Given the description of an element on the screen output the (x, y) to click on. 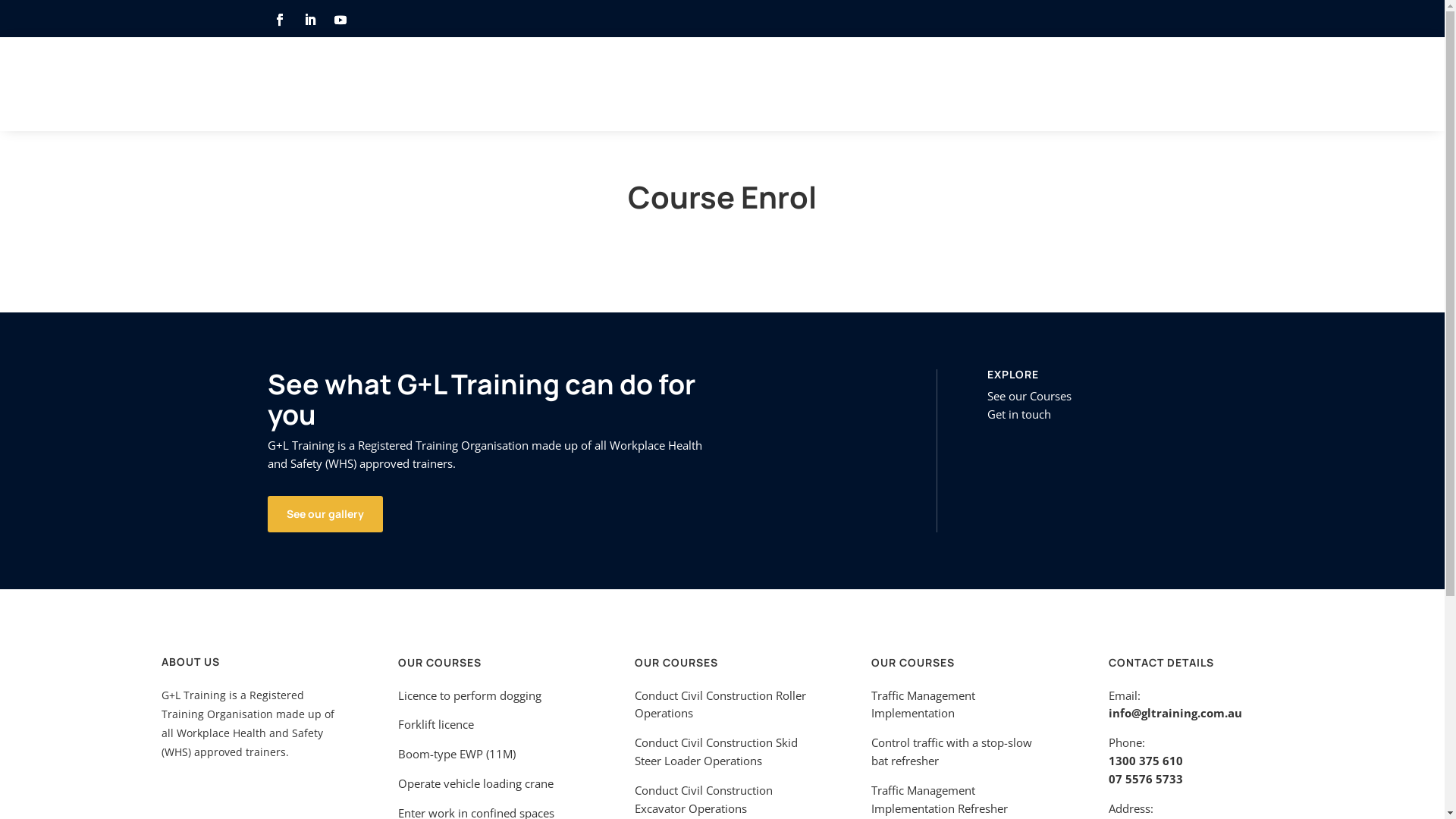
Conduct Civil Construction Roller Operations Element type: text (720, 704)
Operate vehicle loading crane Element type: text (475, 782)
Traffic Management Implementation Refresher Element type: text (939, 798)
Get in touch Element type: text (1019, 413)
1300 375 610 Element type: text (1145, 760)
07 5576 5733 Element type: text (1145, 778)
Boom-type EWP (11M) Element type: text (456, 753)
Traffic Management Implementation Element type: text (923, 704)
Follow on Facebook Element type: hover (278, 19)
Licence to perform dogging Element type: text (469, 694)
info@gltraining.com.au Element type: text (1175, 712)
See our Courses Element type: text (1029, 395)
Forklift licence Element type: text (435, 723)
Control traffic with a stop-slow bat refresher Element type: text (951, 751)
Conduct Civil Construction Excavator Operations Element type: text (703, 798)
Follow on Youtube Element type: hover (339, 19)
See our gallery Element type: text (324, 513)
Follow on LinkedIn Element type: hover (309, 19)
Conduct Civil Construction Skid Steer Loader Operations Element type: text (715, 751)
